Given the description of an element on the screen output the (x, y) to click on. 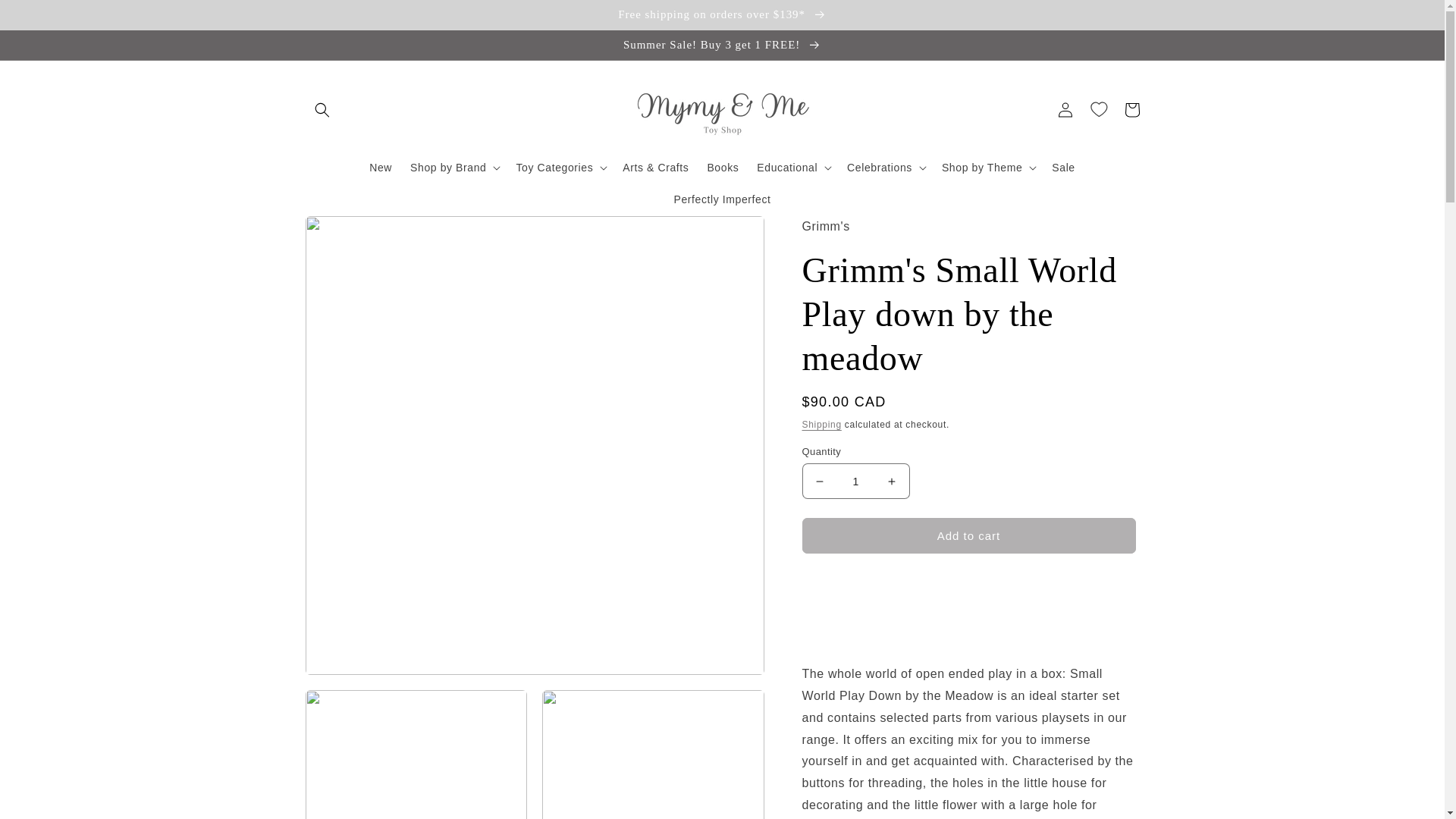
Skip to content (45, 17)
1 (856, 480)
